Given the description of an element on the screen output the (x, y) to click on. 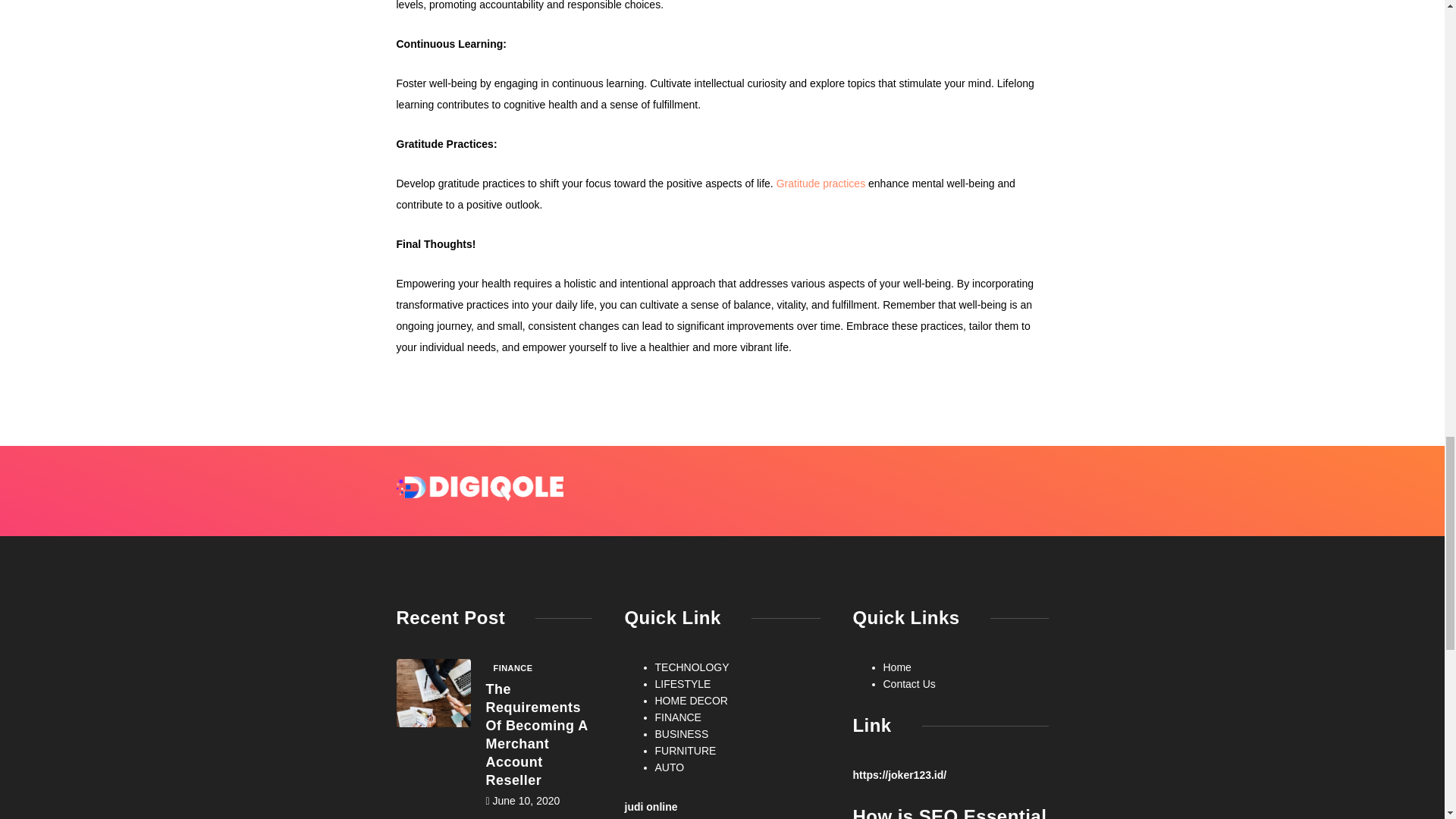
Gratitude practices (821, 183)
The Requirements Of Becoming A Merchant Account Reseller (537, 734)
AUTO (669, 767)
judi online (651, 806)
BUSINESS (682, 734)
Home (896, 666)
TECHNOLOGY (692, 666)
FINANCE (678, 717)
HOME DECOR (691, 700)
LIFESTYLE (683, 684)
